Given the description of an element on the screen output the (x, y) to click on. 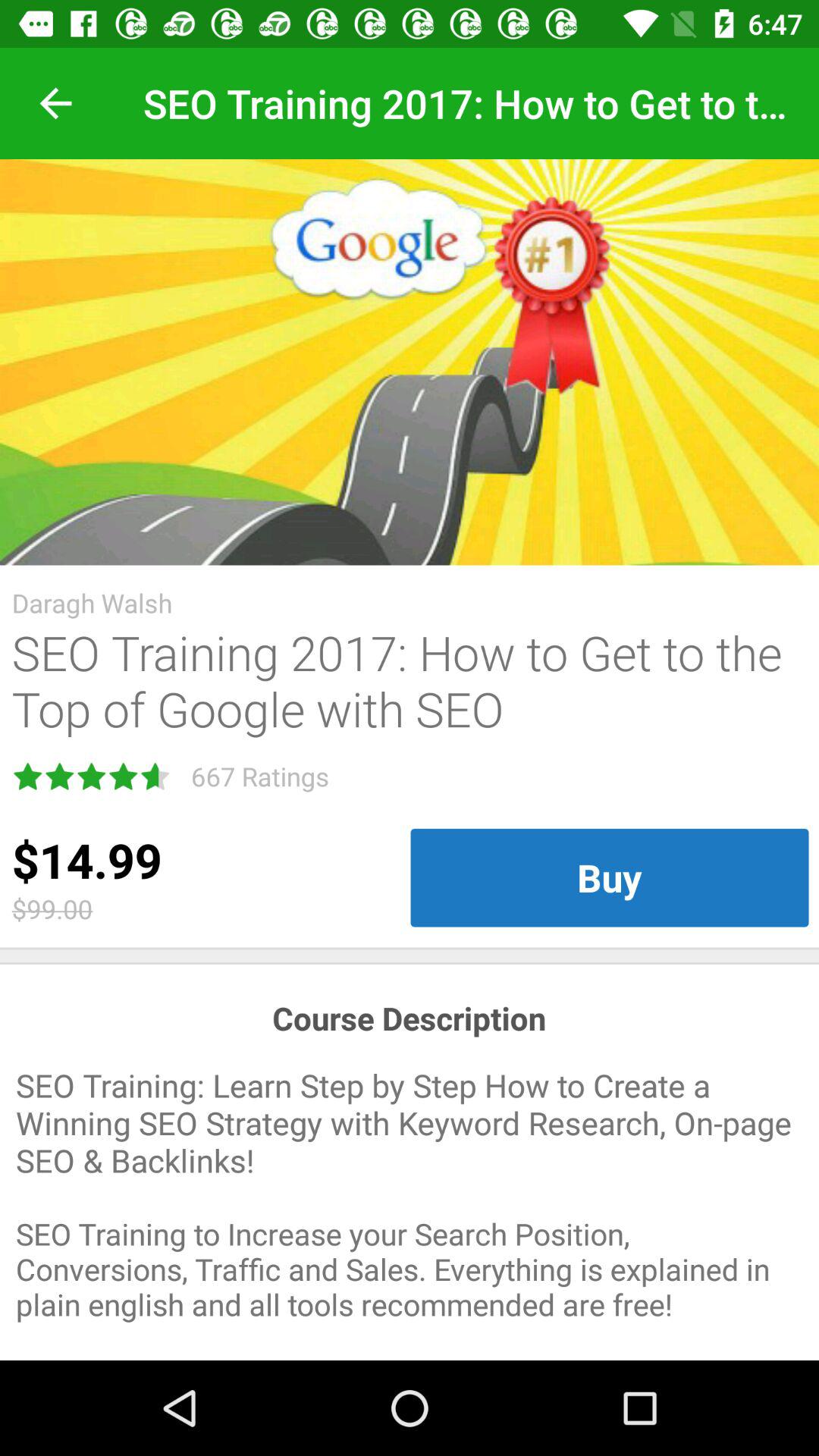
tap the icon above the daragh walsh item (409, 362)
